Given the description of an element on the screen output the (x, y) to click on. 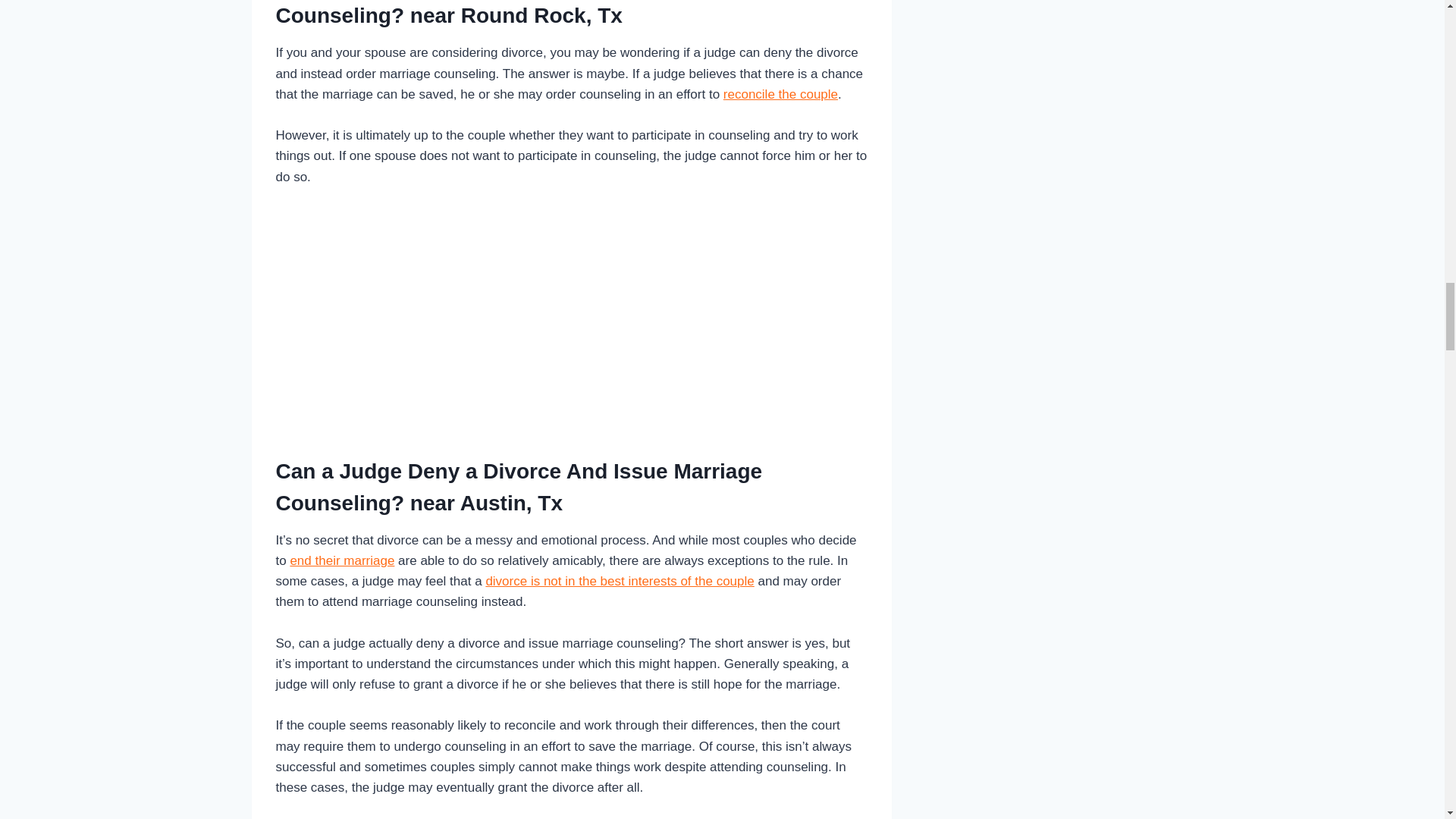
divorce is not in the best interests of the couple (619, 581)
reconcile the couple (780, 93)
end their marriage (341, 560)
